Given the description of an element on the screen output the (x, y) to click on. 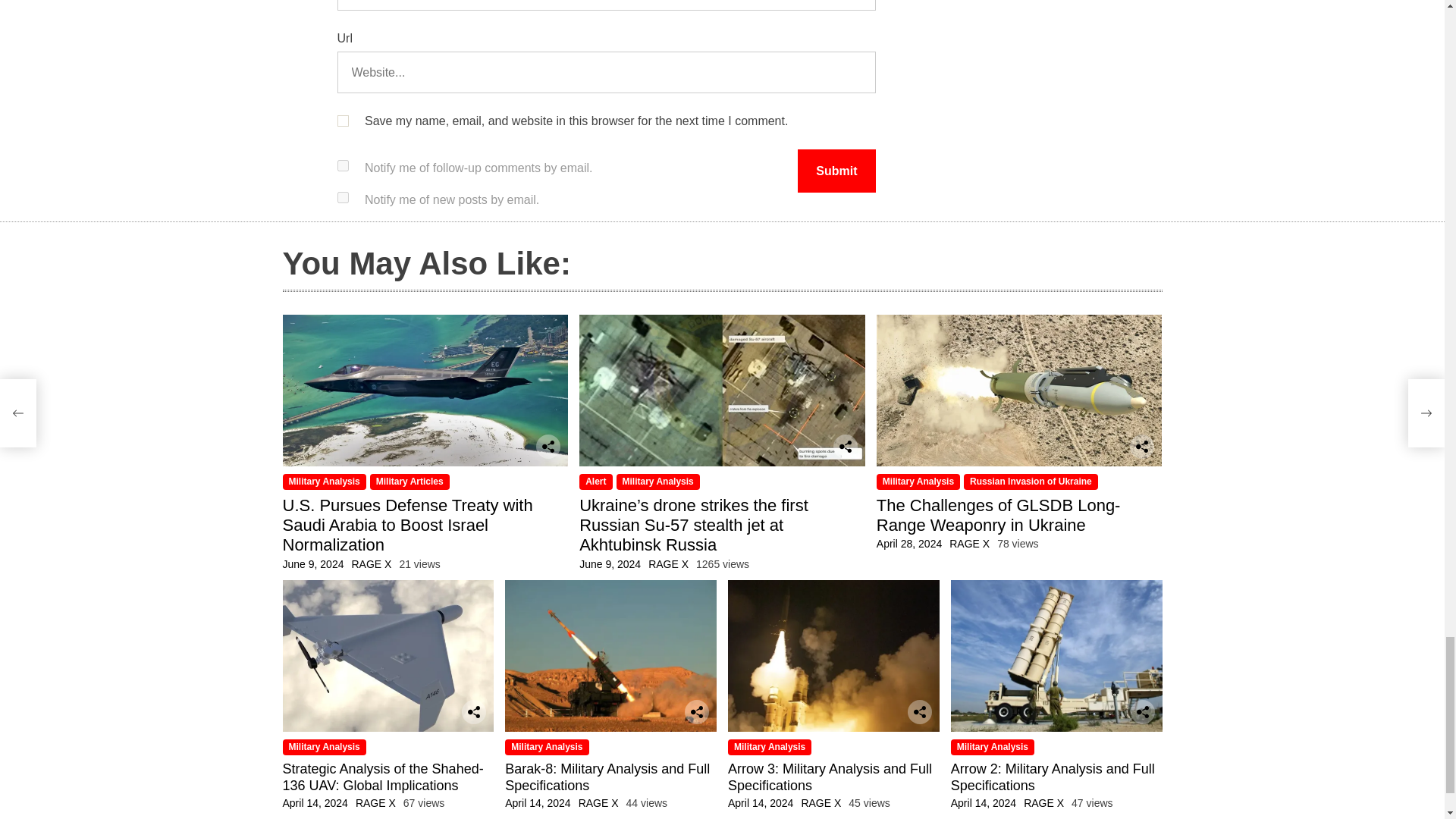
yes (341, 120)
Submit (836, 170)
subscribe (341, 197)
subscribe (341, 165)
